Given the description of an element on the screen output the (x, y) to click on. 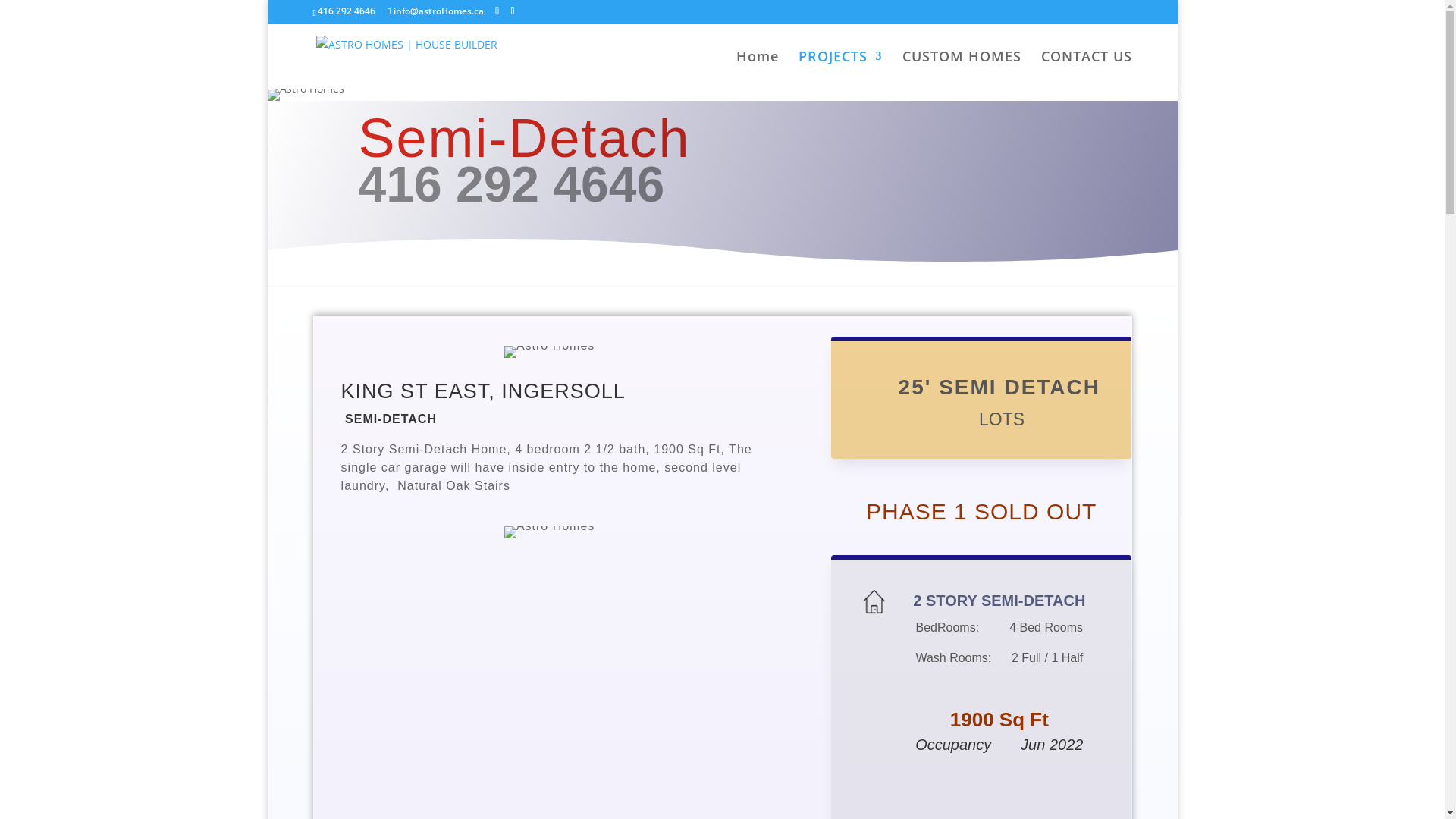
CUSTOM HOMES Element type: text (961, 69)
PROJECTS Element type: text (839, 69)
Astro Homes Element type: hover (304, 94)
CONTACT US Element type: text (1085, 69)
info@astroHomes.ca Element type: text (435, 10)
Home Element type: text (756, 69)
